Given the description of an element on the screen output the (x, y) to click on. 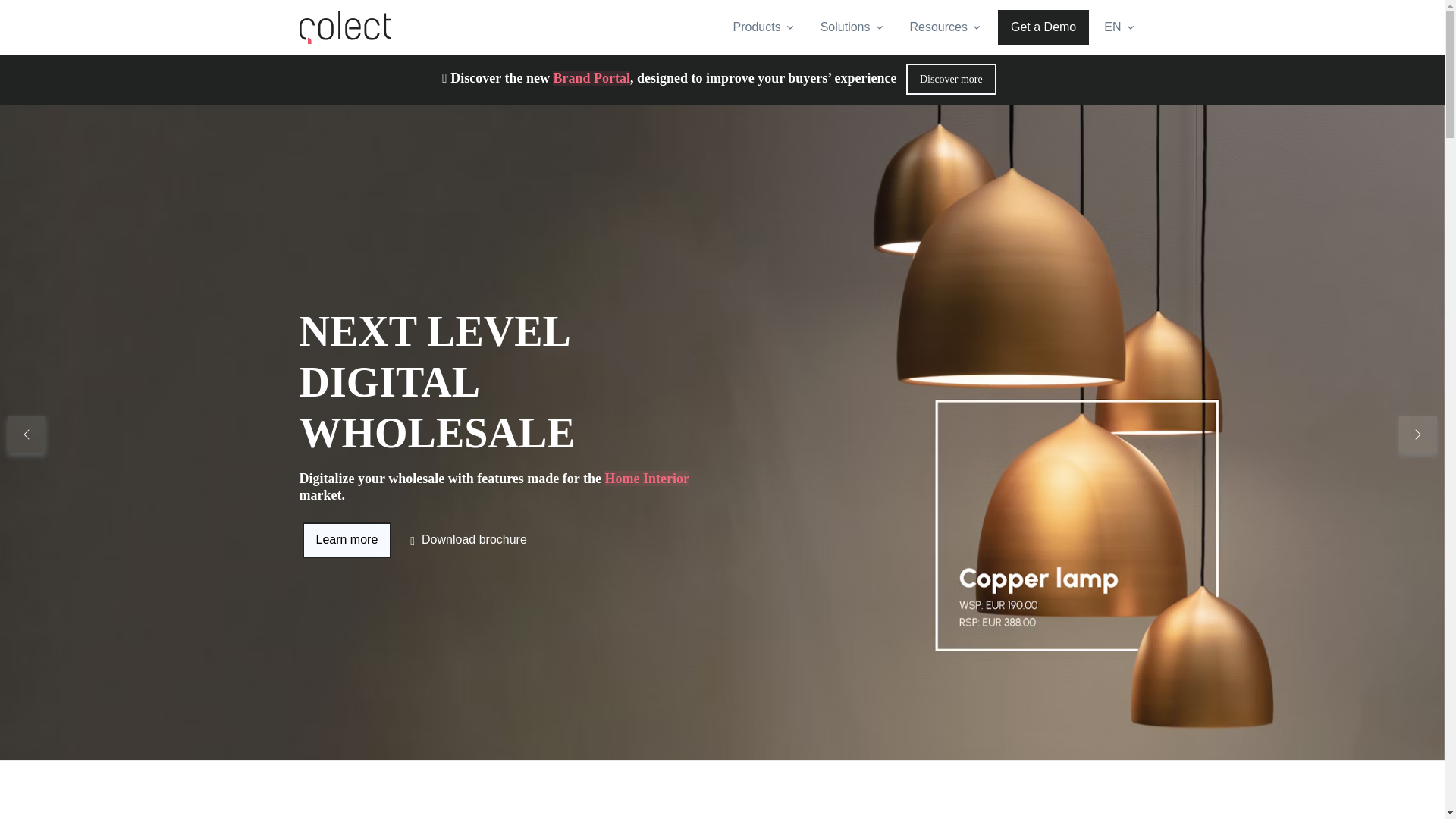
  Download brochure (467, 540)
Get a Demo (1043, 27)
Learn more (346, 540)
Products (764, 26)
EN (1119, 26)
Solutions (852, 26)
Resources (946, 26)
Get a Demo (347, 532)
  Download brochure (473, 532)
Discover more (950, 79)
